Given the description of an element on the screen output the (x, y) to click on. 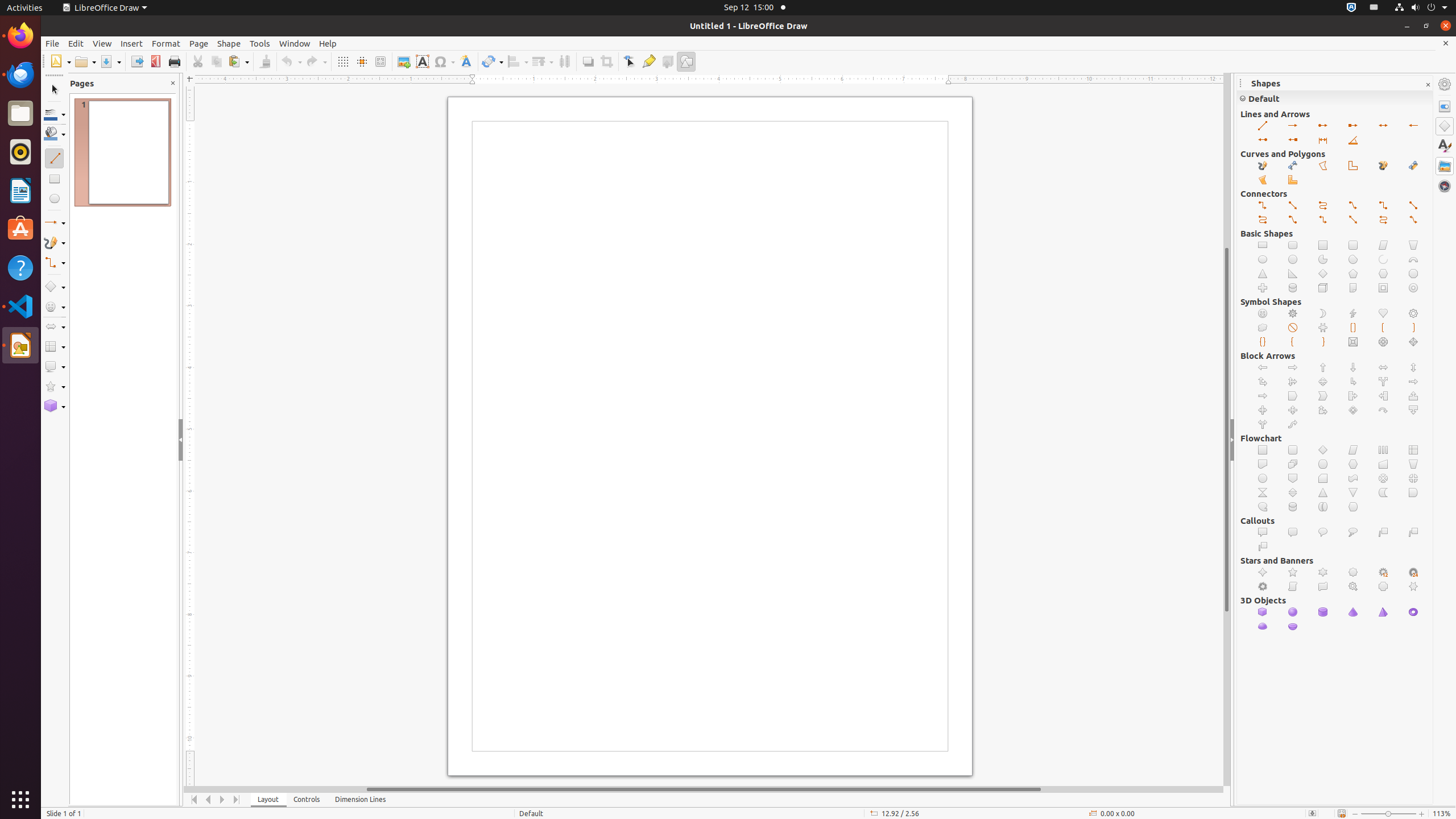
Hexagon Element type: list-item (1383, 273)
Distribution Element type: push-button (564, 61)
Smiley Face Element type: list-item (1262, 313)
Line Connector Ends with Arrow Element type: list-item (1353, 205)
Close Pane Element type: push-button (172, 82)
